Given the description of an element on the screen output the (x, y) to click on. 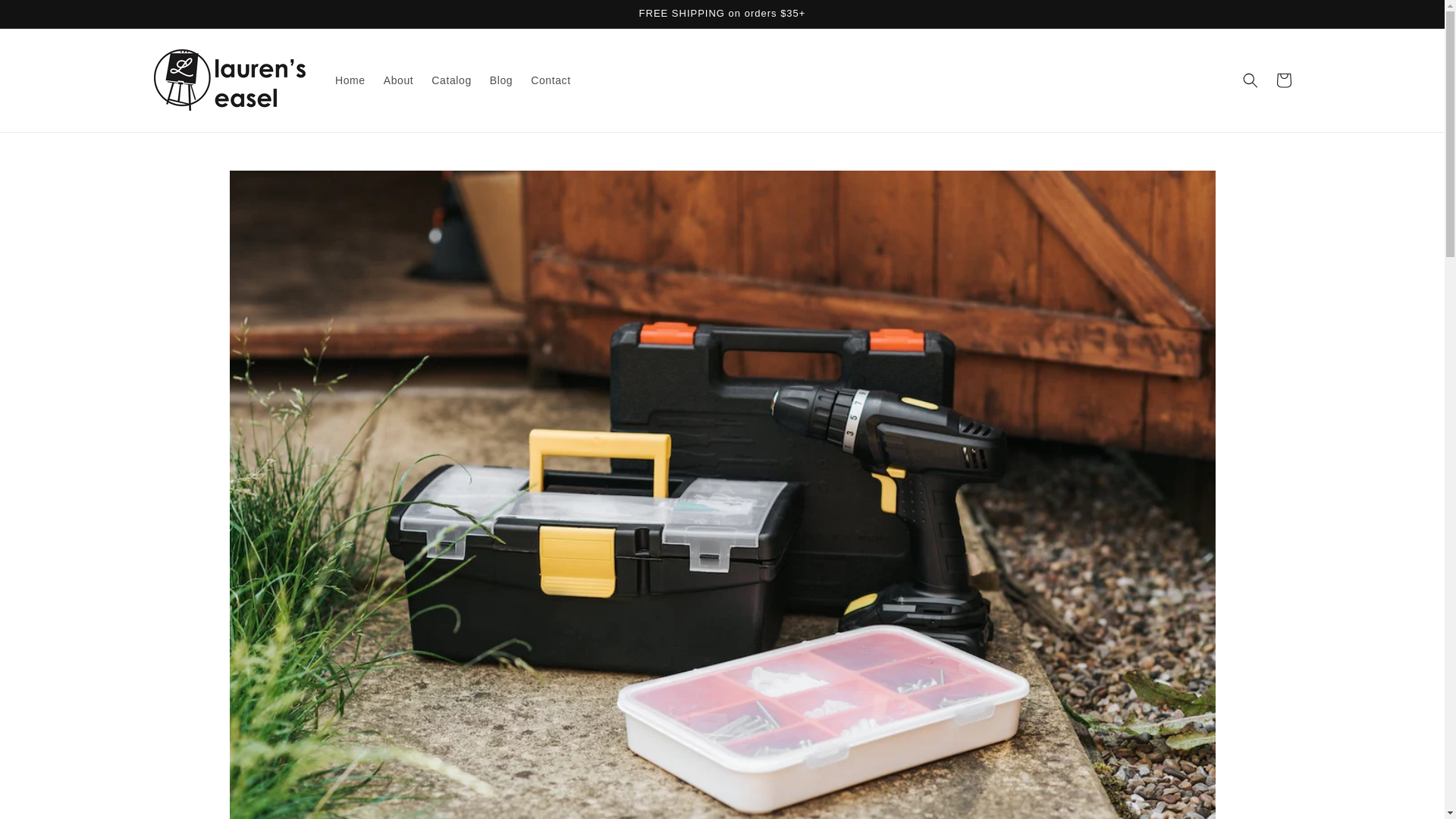
Home (350, 80)
Blog (500, 80)
Contact (550, 80)
About (398, 80)
Skip to content (45, 16)
Catalog (451, 80)
Cart (1283, 80)
